Given the description of an element on the screen output the (x, y) to click on. 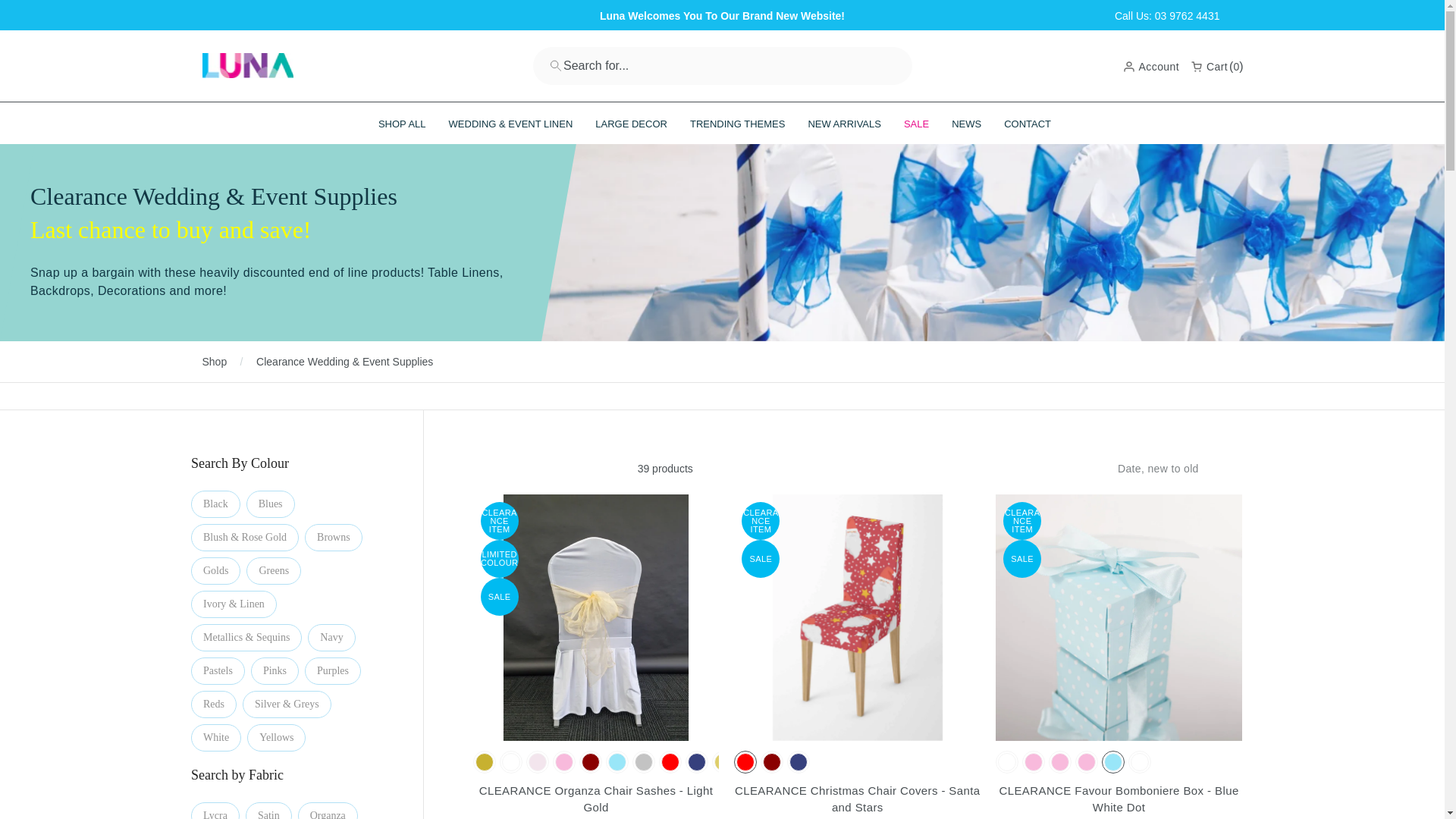
Account (1151, 65)
Back to the frontpage (214, 361)
Add filter:  Blues (270, 503)
tel:03 9762 4431 (1167, 15)
Add filter:  Black (216, 503)
Add filter:  Browns (333, 537)
Call Us: 03 9762 4431 (1167, 15)
Search (283, 810)
